Given the description of an element on the screen output the (x, y) to click on. 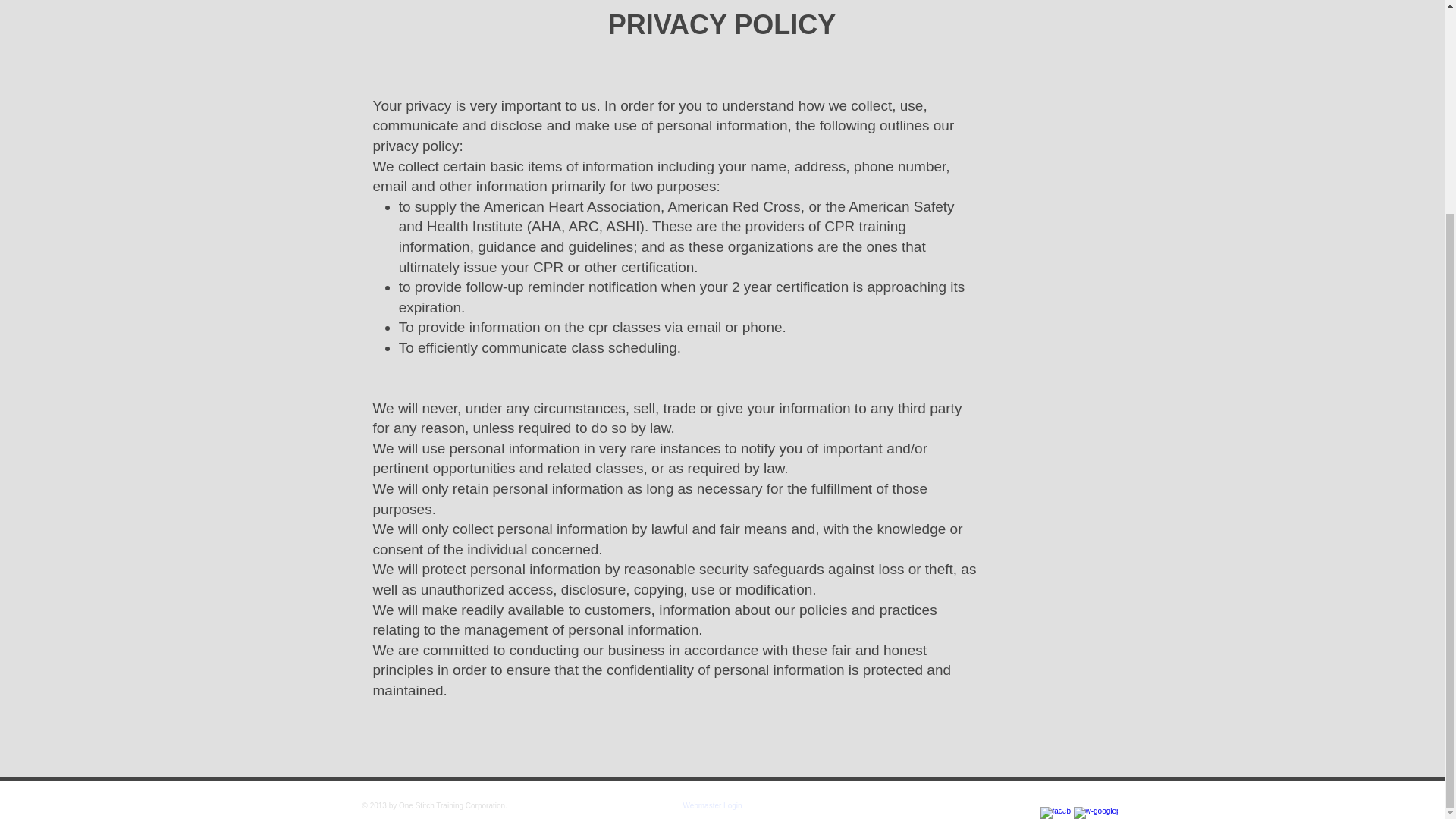
Webmaster Login (712, 806)
